Given the description of an element on the screen output the (x, y) to click on. 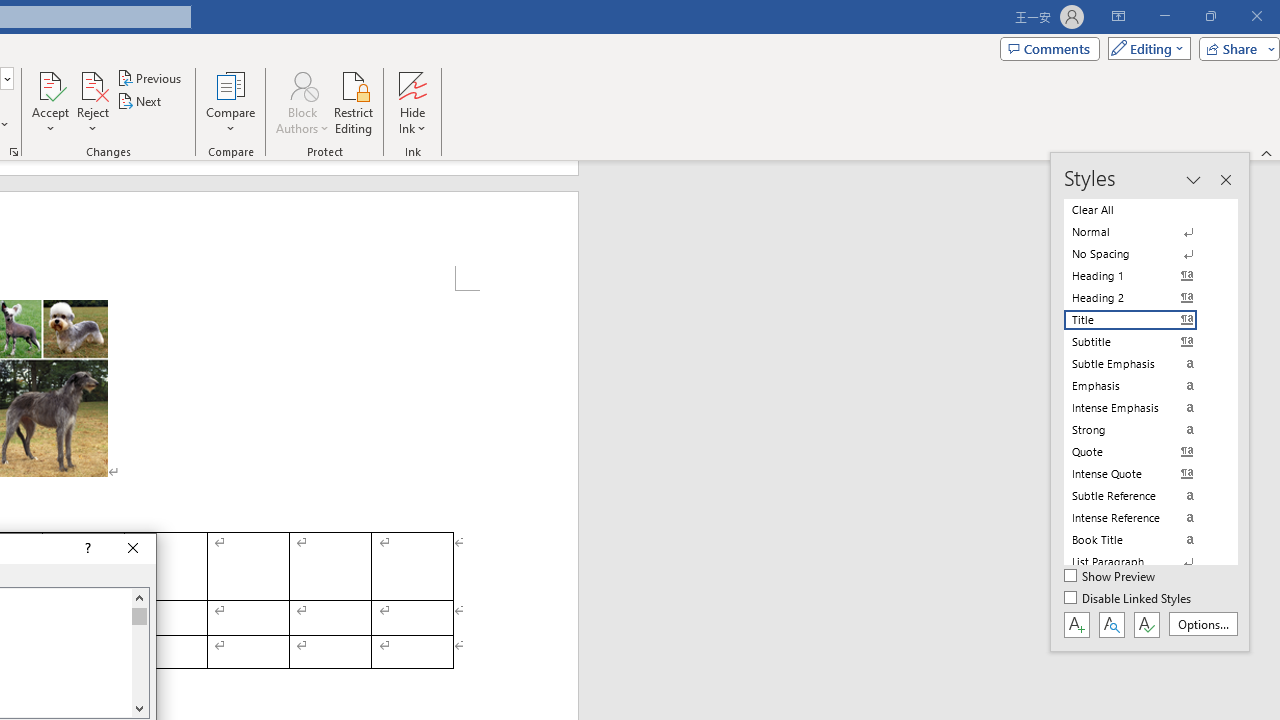
List Paragraph (1142, 561)
Reject (92, 102)
Restrict Editing (353, 102)
Quote (1142, 451)
Accept (50, 102)
No Spacing (1142, 253)
